Given the description of an element on the screen output the (x, y) to click on. 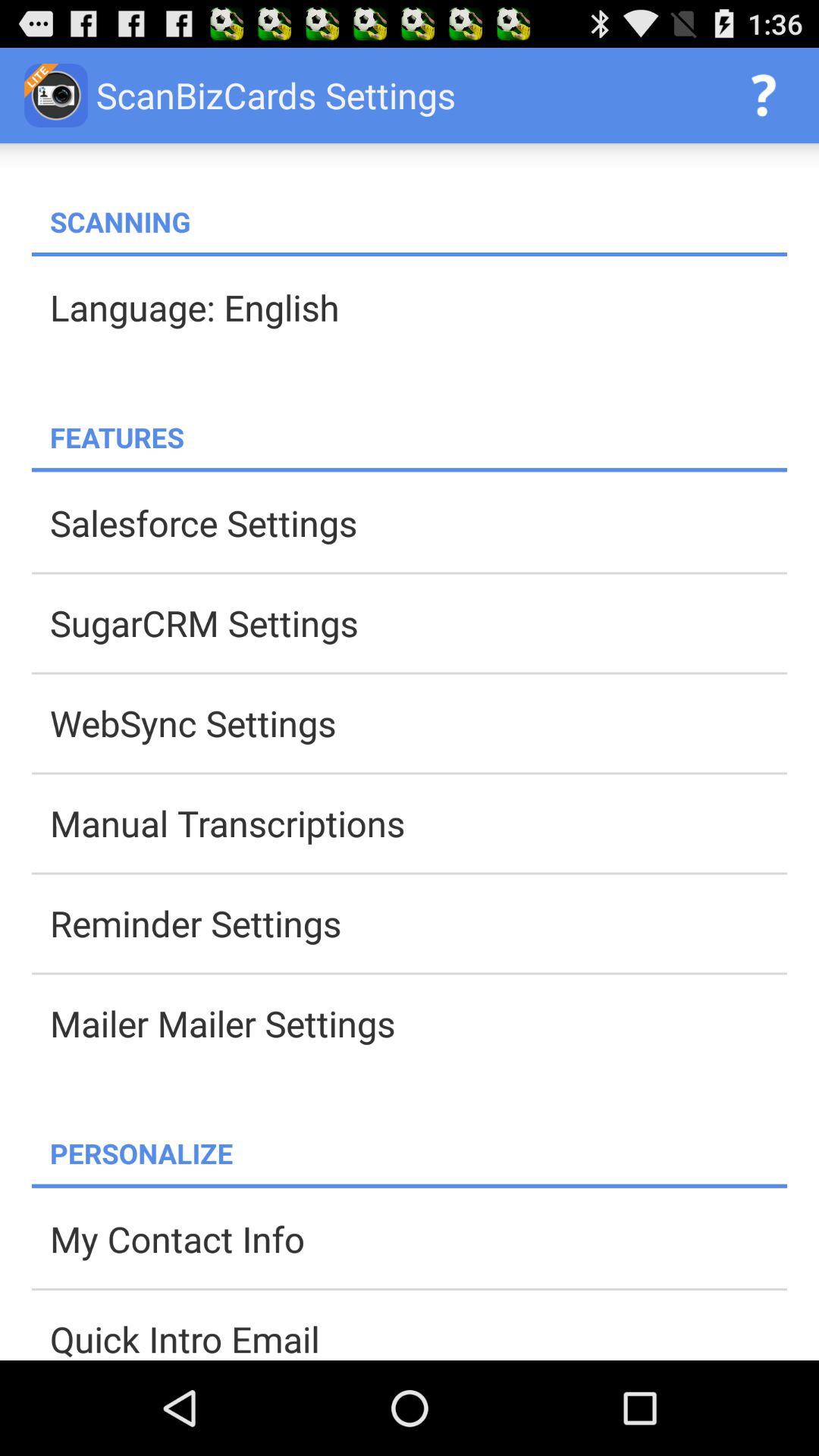
turn off the app to the right of the scanbizcards settings item (763, 95)
